Given the description of an element on the screen output the (x, y) to click on. 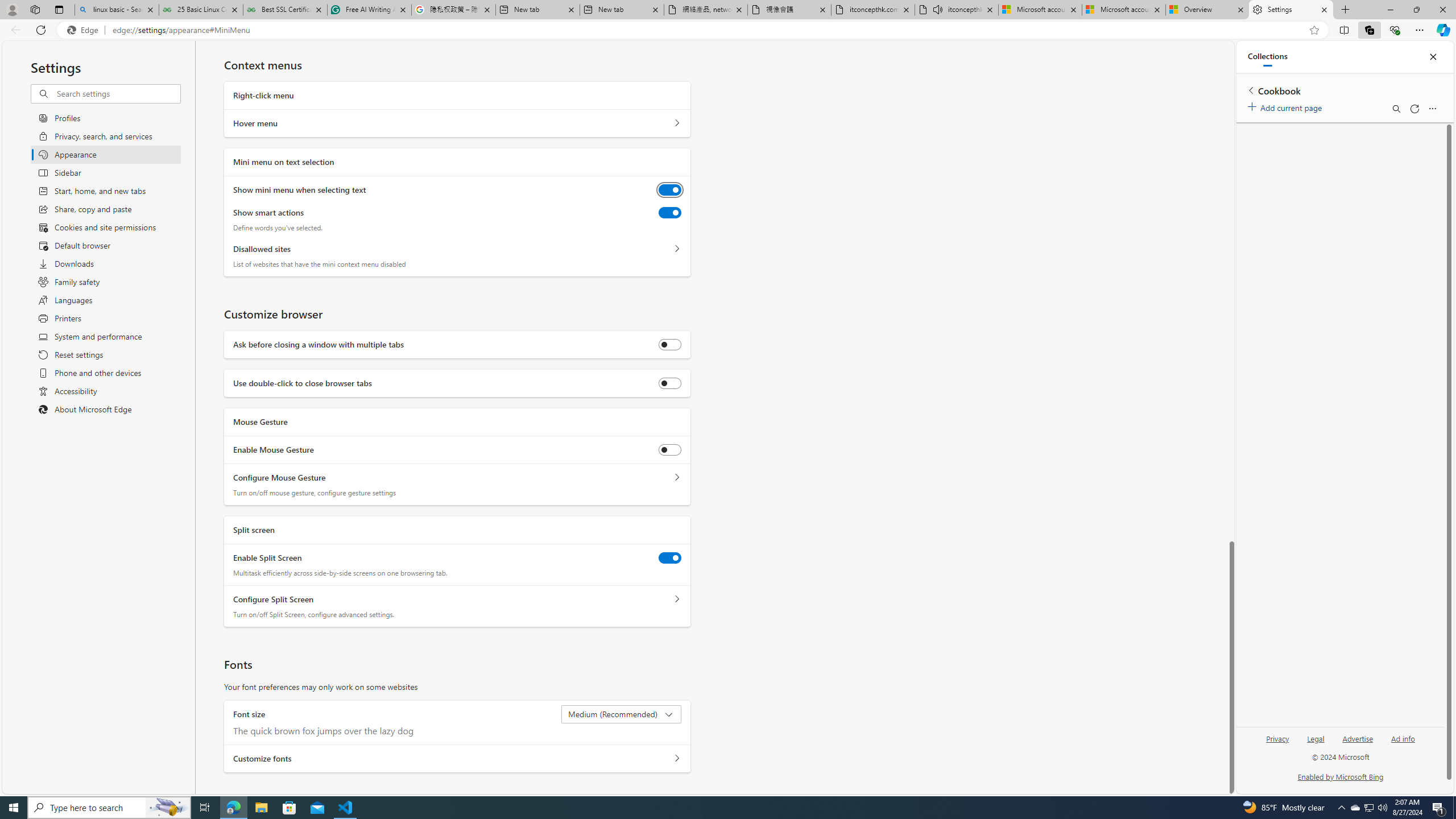
Overview (1206, 9)
Enable Split Screen (669, 557)
Hover menu (676, 123)
Show mini menu when selecting text (669, 189)
Add current page (1286, 105)
Configure Mouse Gesture (676, 477)
Mute tab (937, 8)
Free AI Writing Assistance for Students | Grammarly (368, 9)
